Given the description of an element on the screen output the (x, y) to click on. 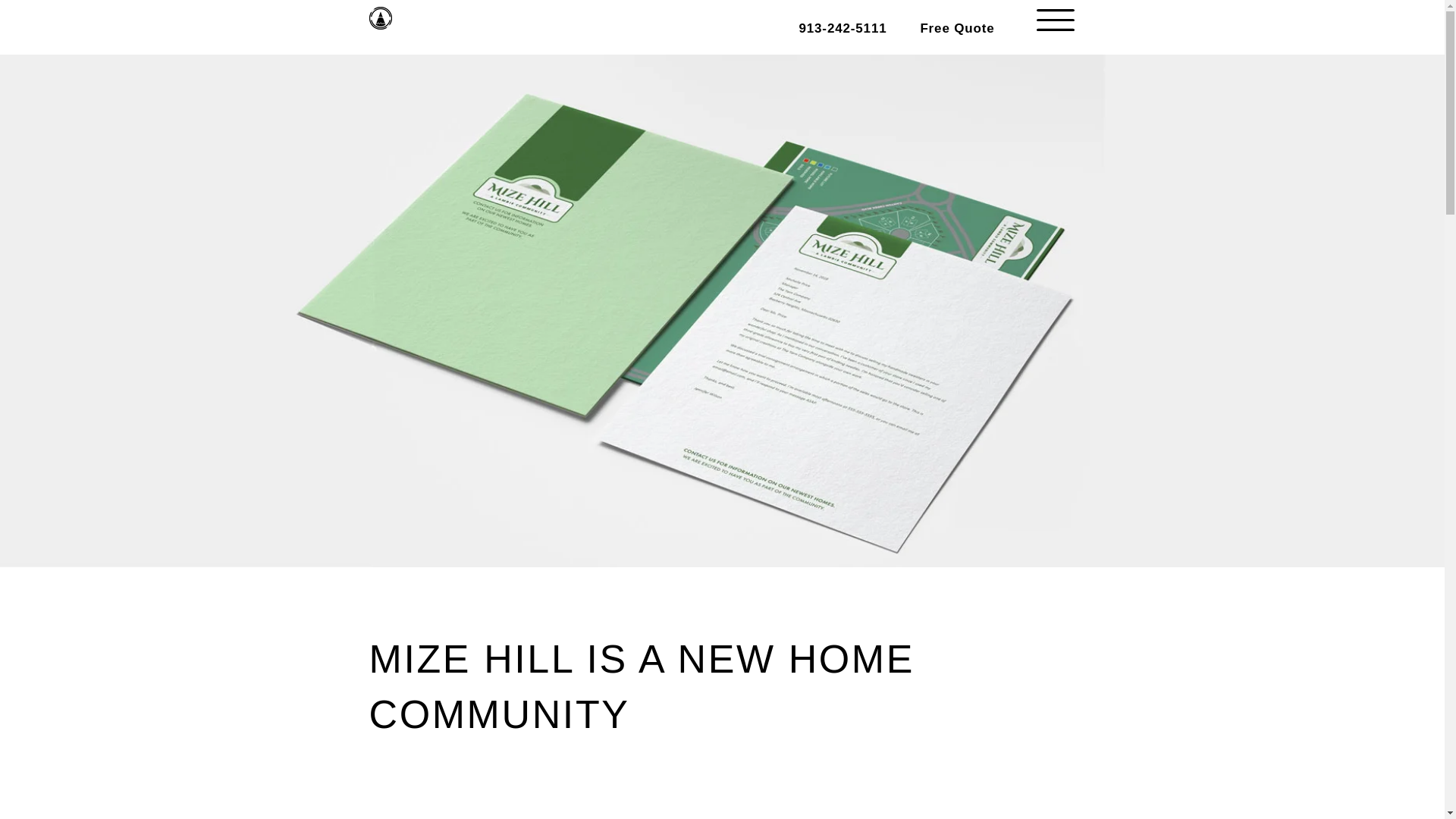
913-242-5111 (841, 20)
Free Quote (957, 20)
